Given the description of an element on the screen output the (x, y) to click on. 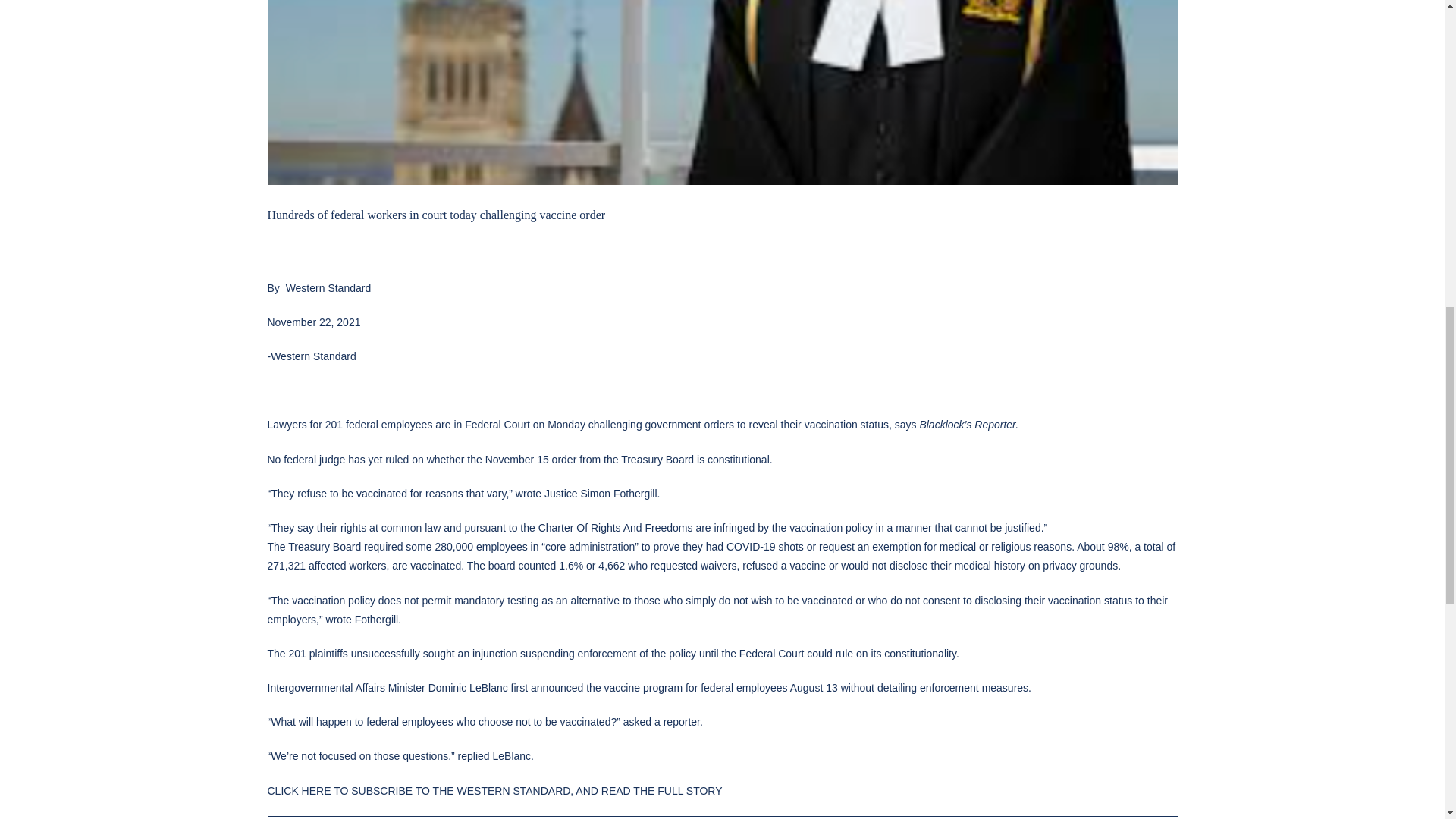
Western Standard (328, 287)
Posts by Western Standard (328, 287)
